Given the description of an element on the screen output the (x, y) to click on. 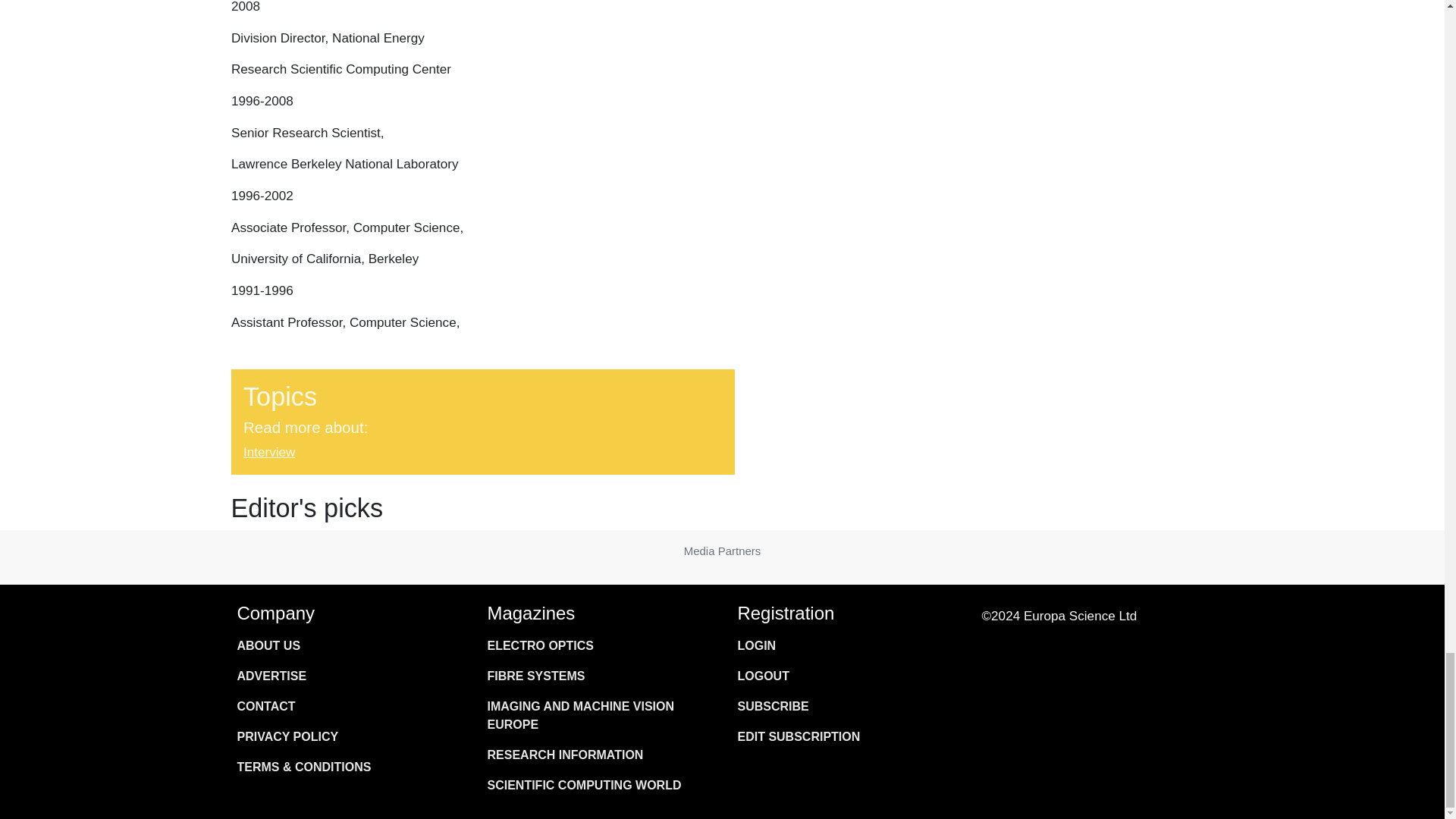
PRIVACY POLICY (346, 736)
Interview (268, 452)
ABOUT US (346, 645)
CONTACT (346, 706)
ADVERTISE (346, 675)
